Given the description of an element on the screen output the (x, y) to click on. 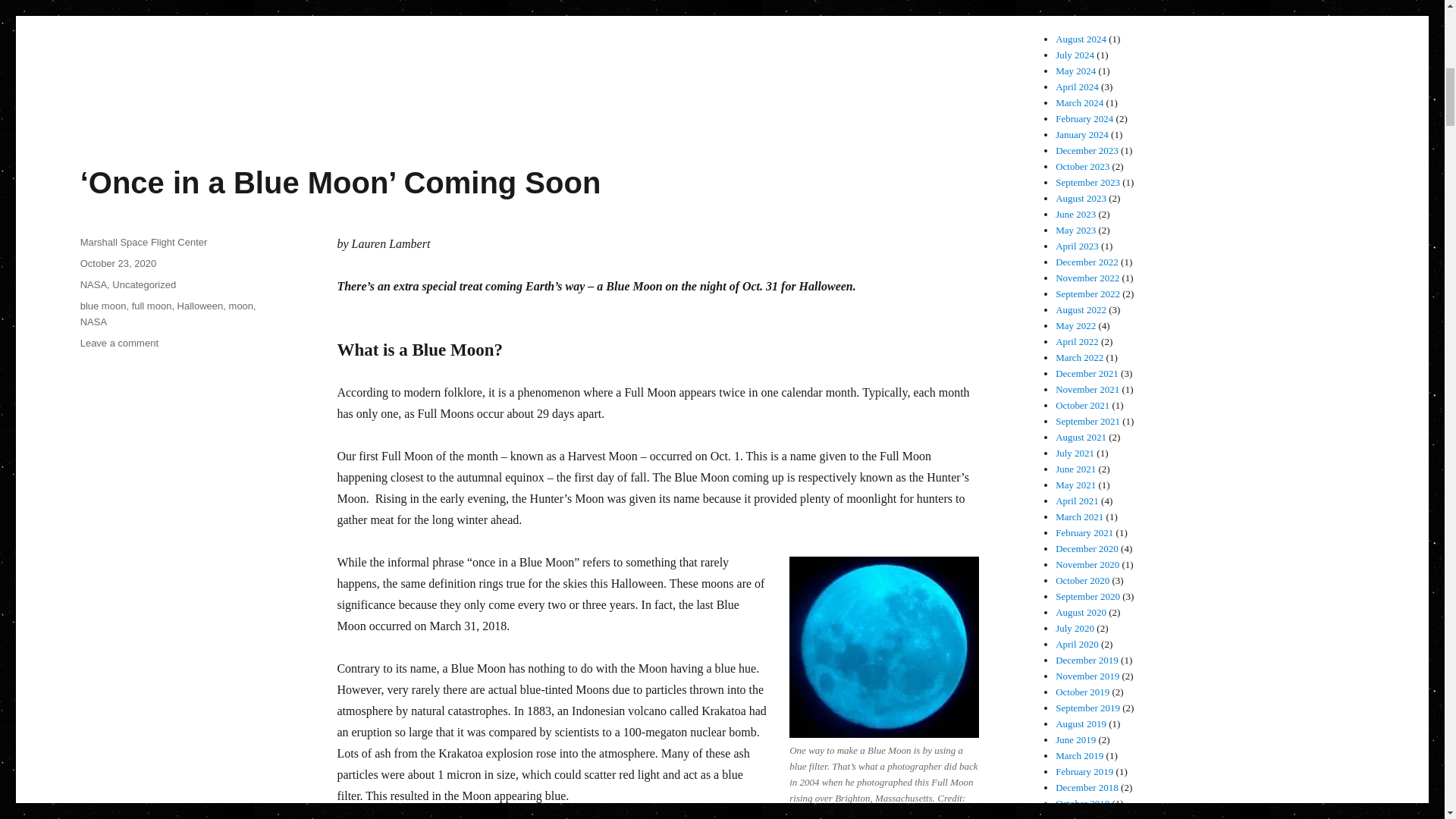
NASA (93, 284)
blue moon (103, 306)
Halloween (200, 306)
full moon (151, 306)
moon (240, 306)
Uncategorized (144, 284)
YouTube player (655, 22)
NASA (93, 321)
Marshall Space Flight Center (144, 242)
October 23, 2020 (117, 263)
